Given the description of an element on the screen output the (x, y) to click on. 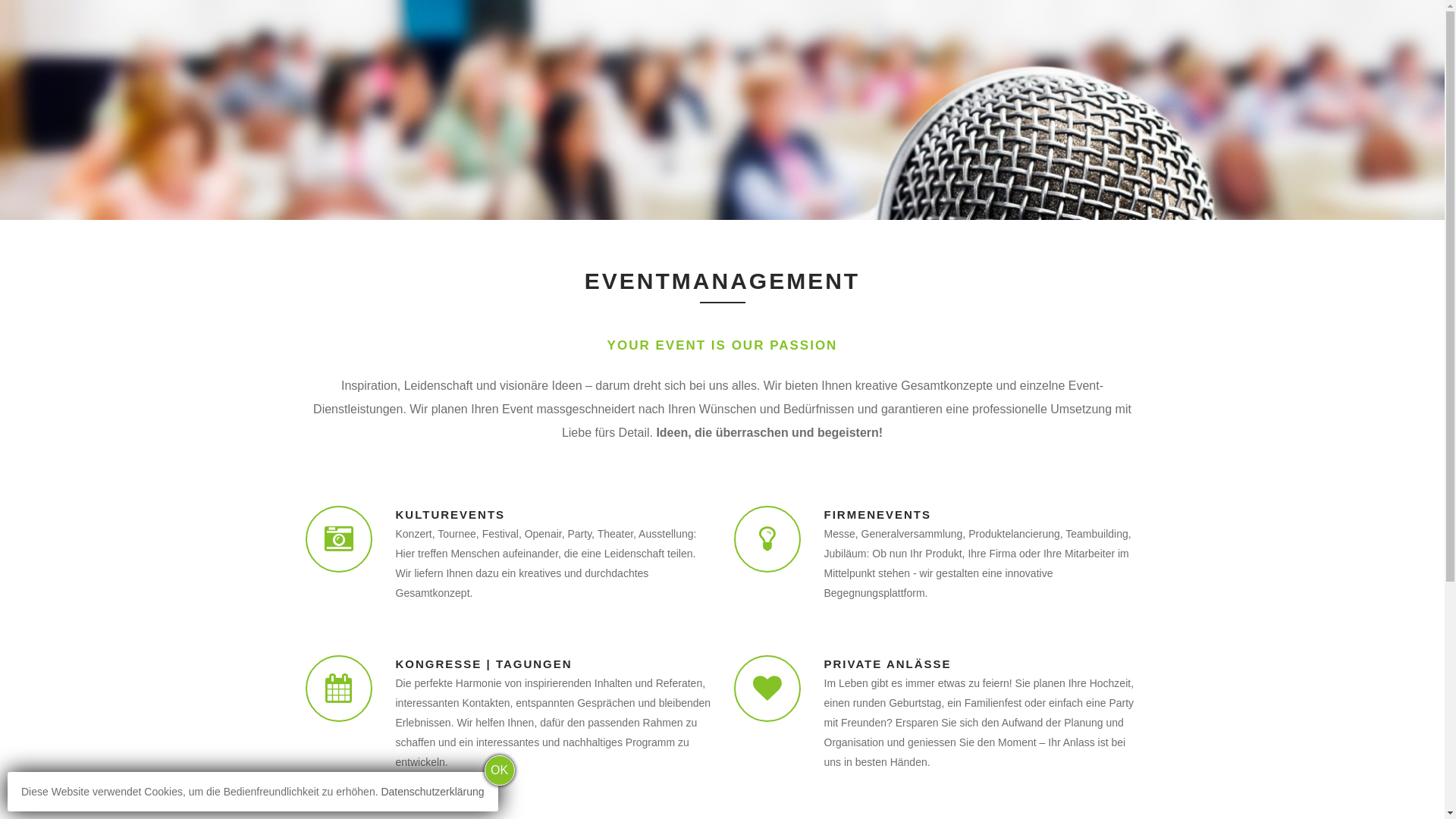
OK Element type: text (499, 770)
